Given the description of an element on the screen output the (x, y) to click on. 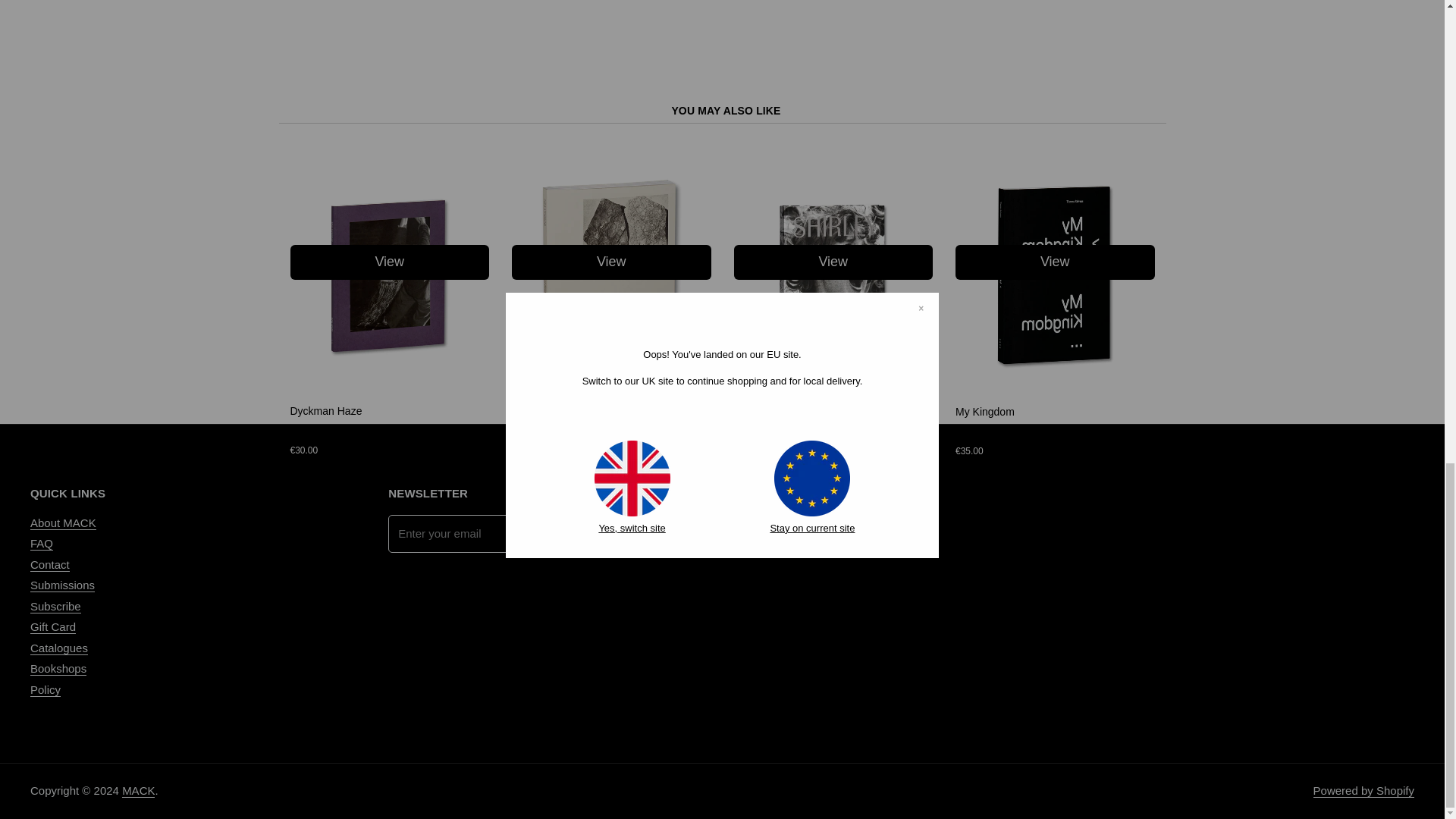
The Voyage of Discovery (571, 411)
Dyckman Haze (325, 410)
My Kingdom (984, 411)
Shirley Baker (764, 411)
Dyckman Haze (389, 386)
My Kingdom (1054, 386)
Shirley Baker (833, 386)
The Voyage of Discovery (611, 386)
